Given the description of an element on the screen output the (x, y) to click on. 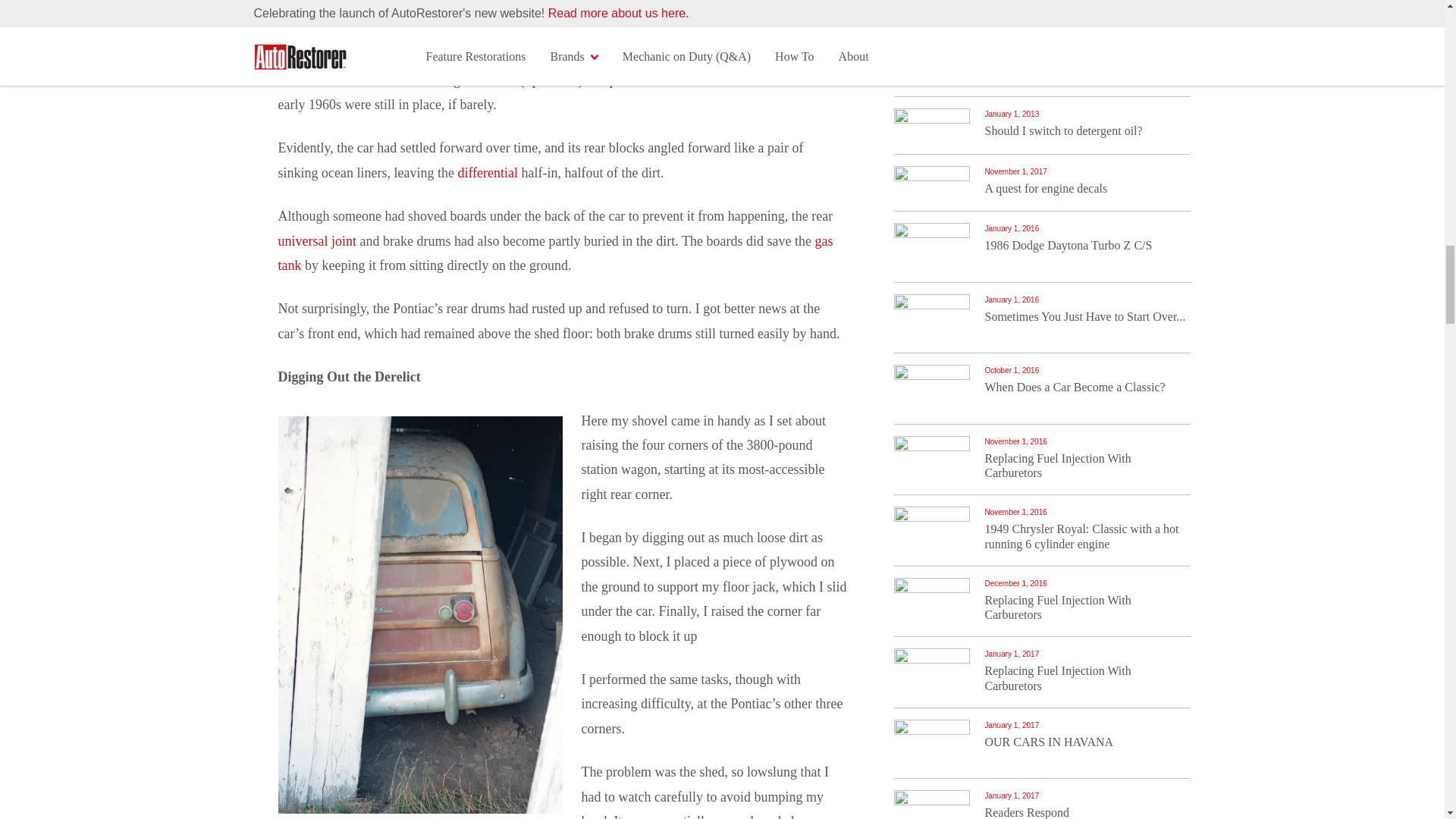
window (774, 11)
gas tank (555, 252)
universal joint (316, 240)
differential (487, 172)
